Given the description of an element on the screen output the (x, y) to click on. 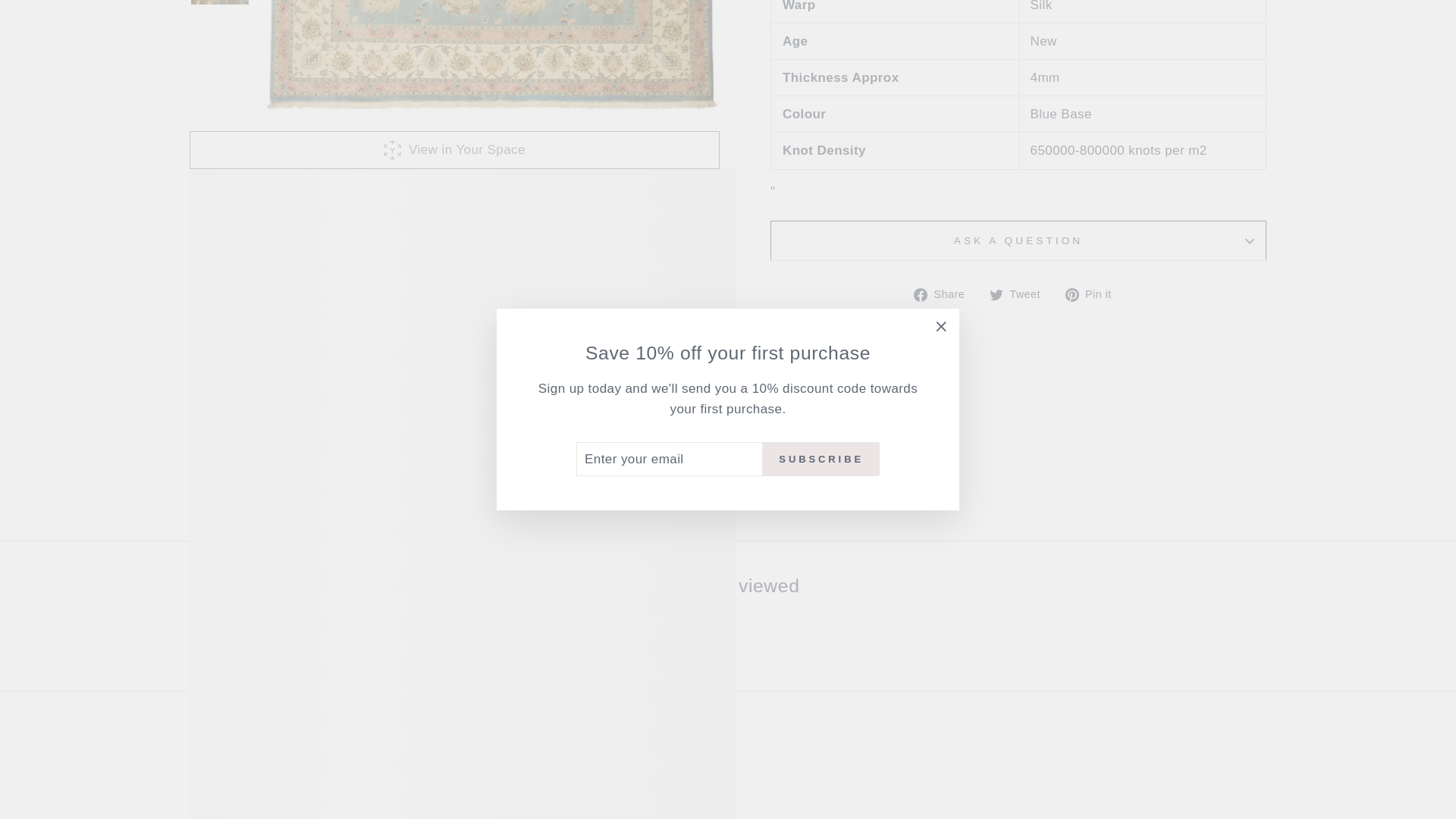
twitter (996, 295)
Tweet on Twitter (1020, 293)
